Given the description of an element on the screen output the (x, y) to click on. 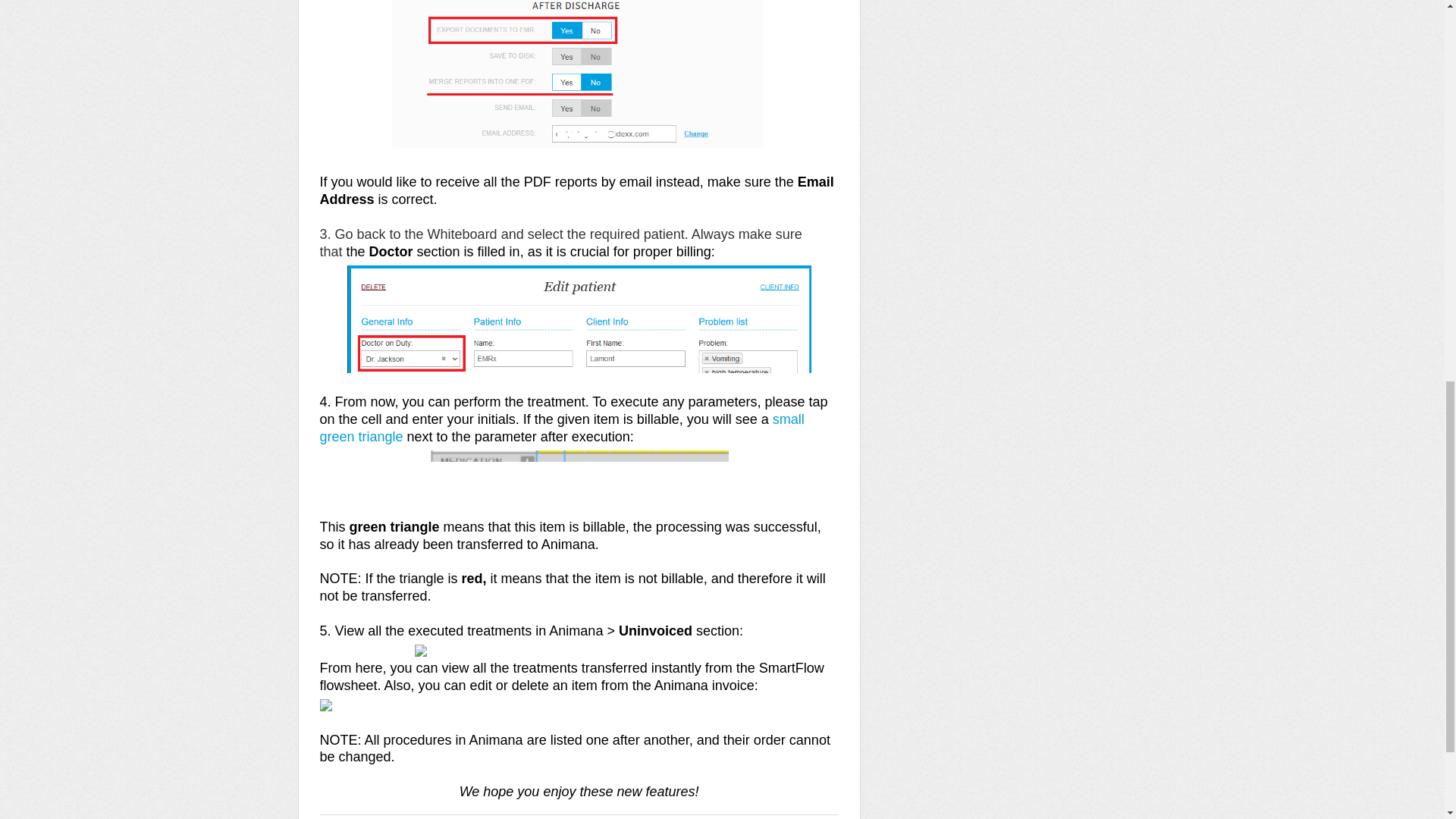
small green triangle (562, 427)
